Given the description of an element on the screen output the (x, y) to click on. 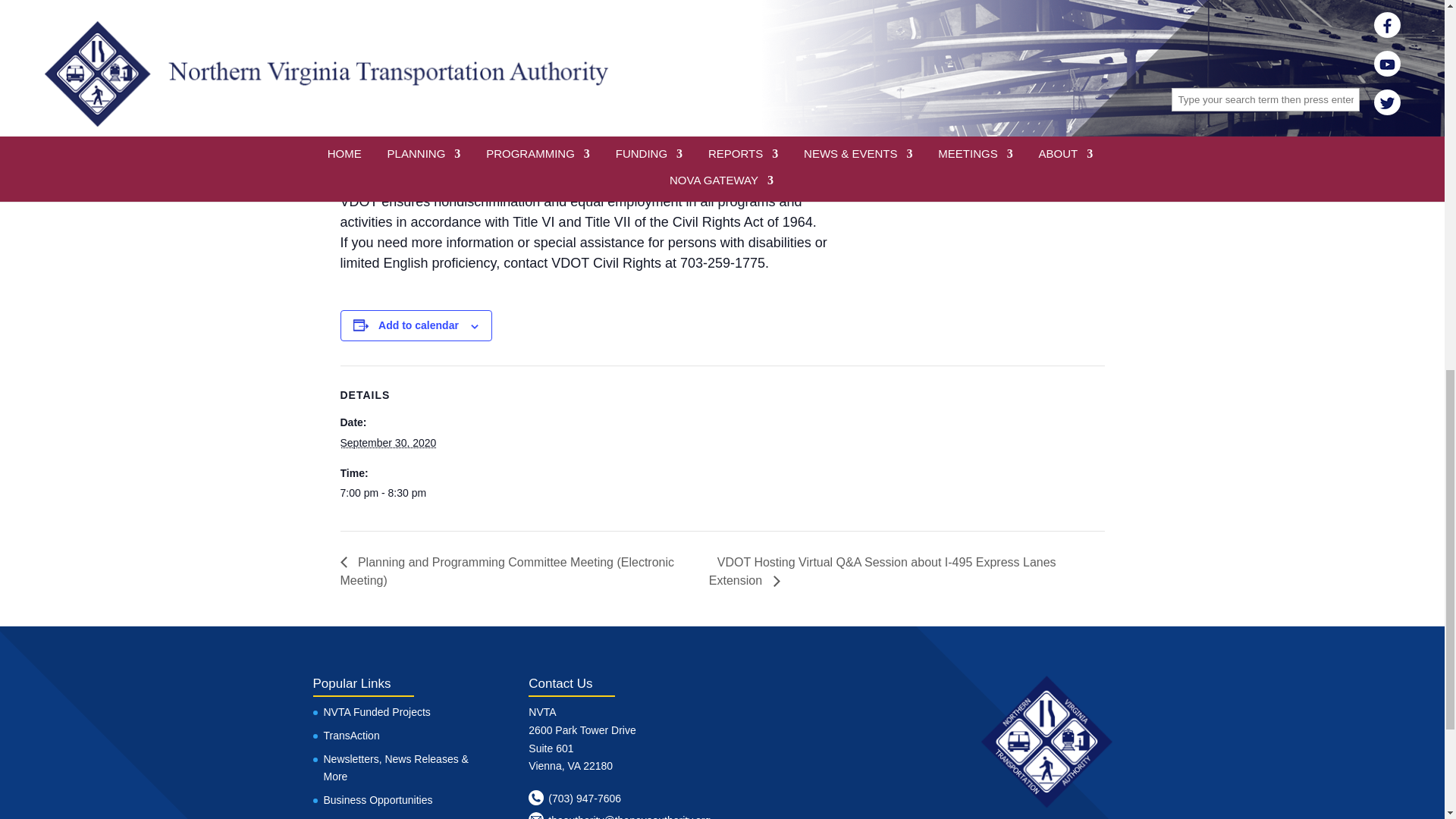
2020-09-30 (387, 442)
2020-09-30 (403, 493)
